Given the description of an element on the screen output the (x, y) to click on. 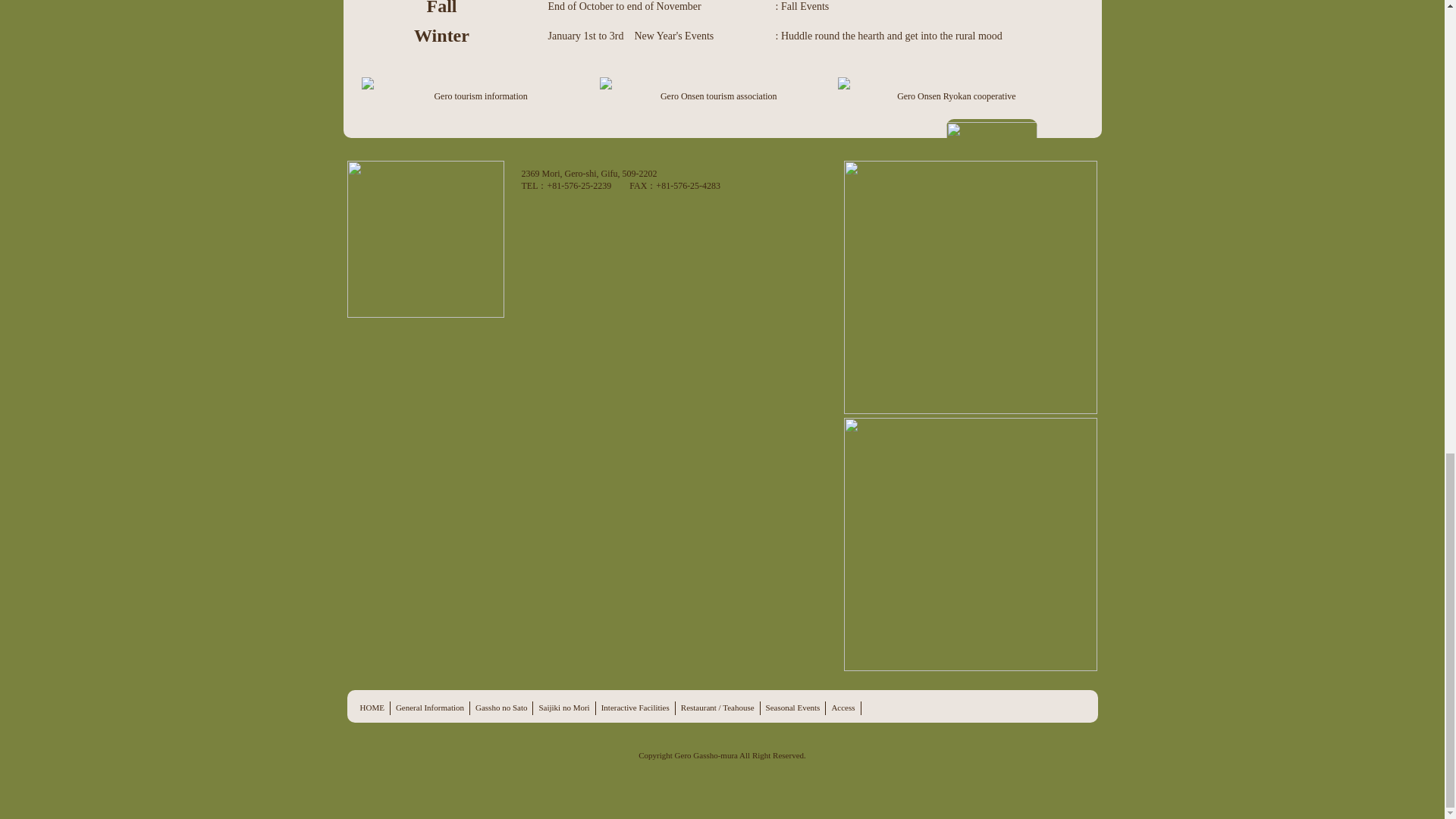
Access (842, 706)
Interactive Facilities (635, 706)
General Information (430, 706)
Gero Onsen Ryokan cooperative (956, 88)
Gero tourism information (480, 88)
Seasonal Events (793, 706)
Gassho no Sato (501, 706)
HOME (371, 706)
Gero Onsen tourism association (718, 88)
Saijiki no Mori (563, 706)
